Given the description of an element on the screen output the (x, y) to click on. 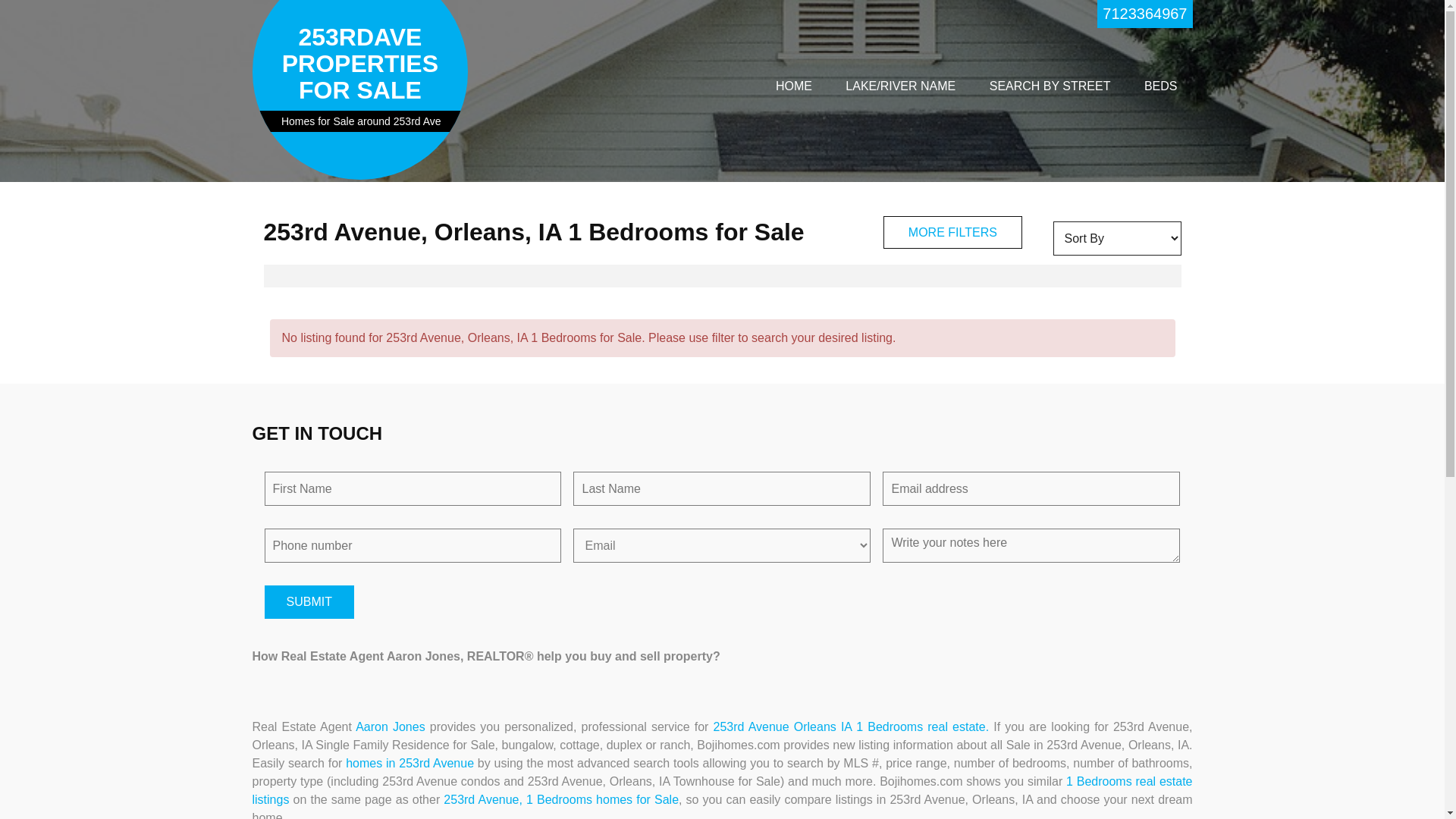
MORE FILTERS Element type: text (952, 231)
253rd Avenue Orleans IA 1 Bedrooms real estate. Element type: text (851, 726)
SUBMIT Element type: text (308, 601)
Aaron Jones Element type: text (390, 726)
253rd Avenue, 1 Bedrooms homes for Sale Element type: text (560, 799)
homes in 253rd Avenue Element type: text (409, 762)
HOME Element type: text (793, 86)
1 Bedrooms real estate listings Element type: text (721, 790)
